Given the description of an element on the screen output the (x, y) to click on. 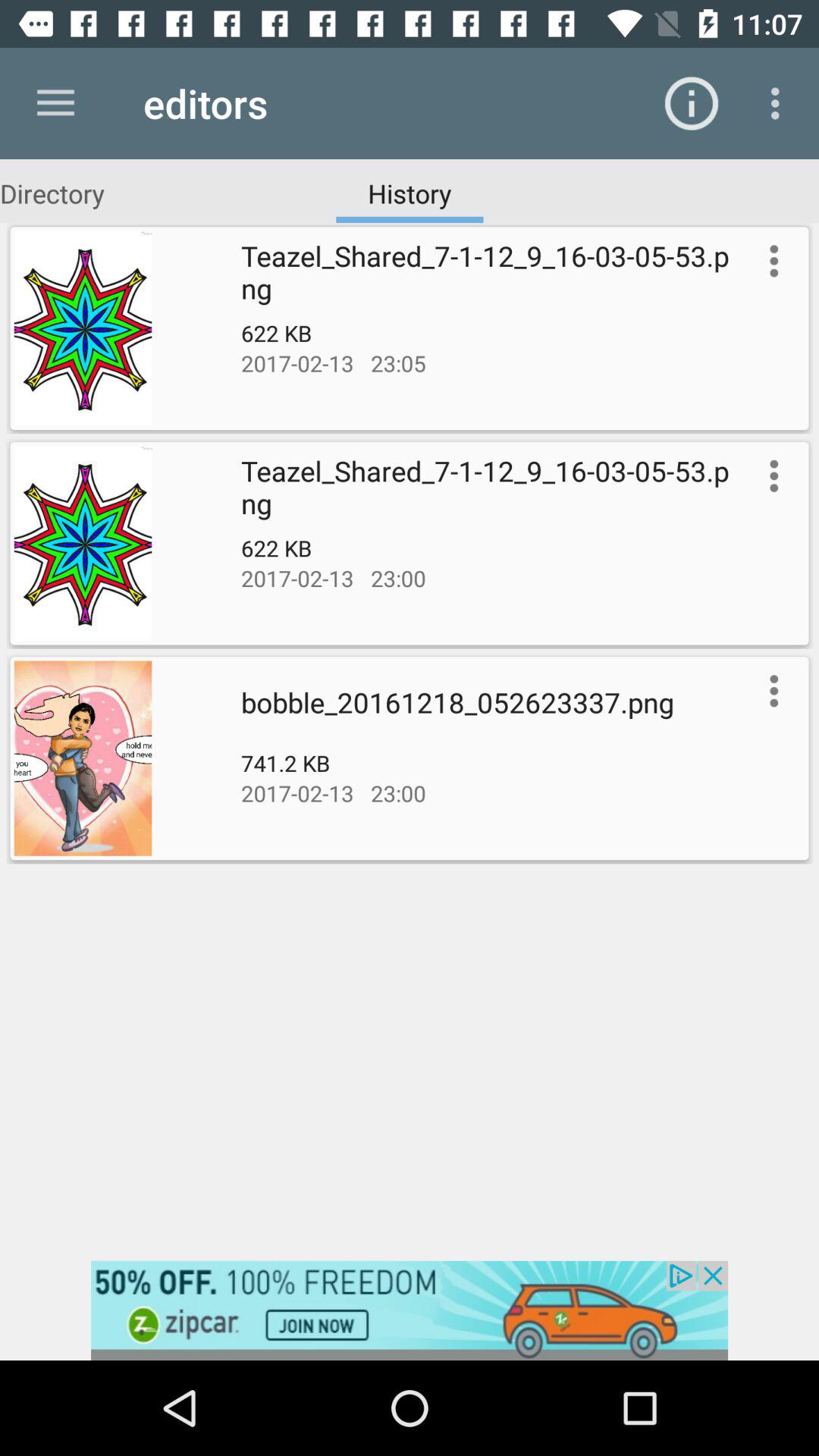
more information (770, 475)
